Given the description of an element on the screen output the (x, y) to click on. 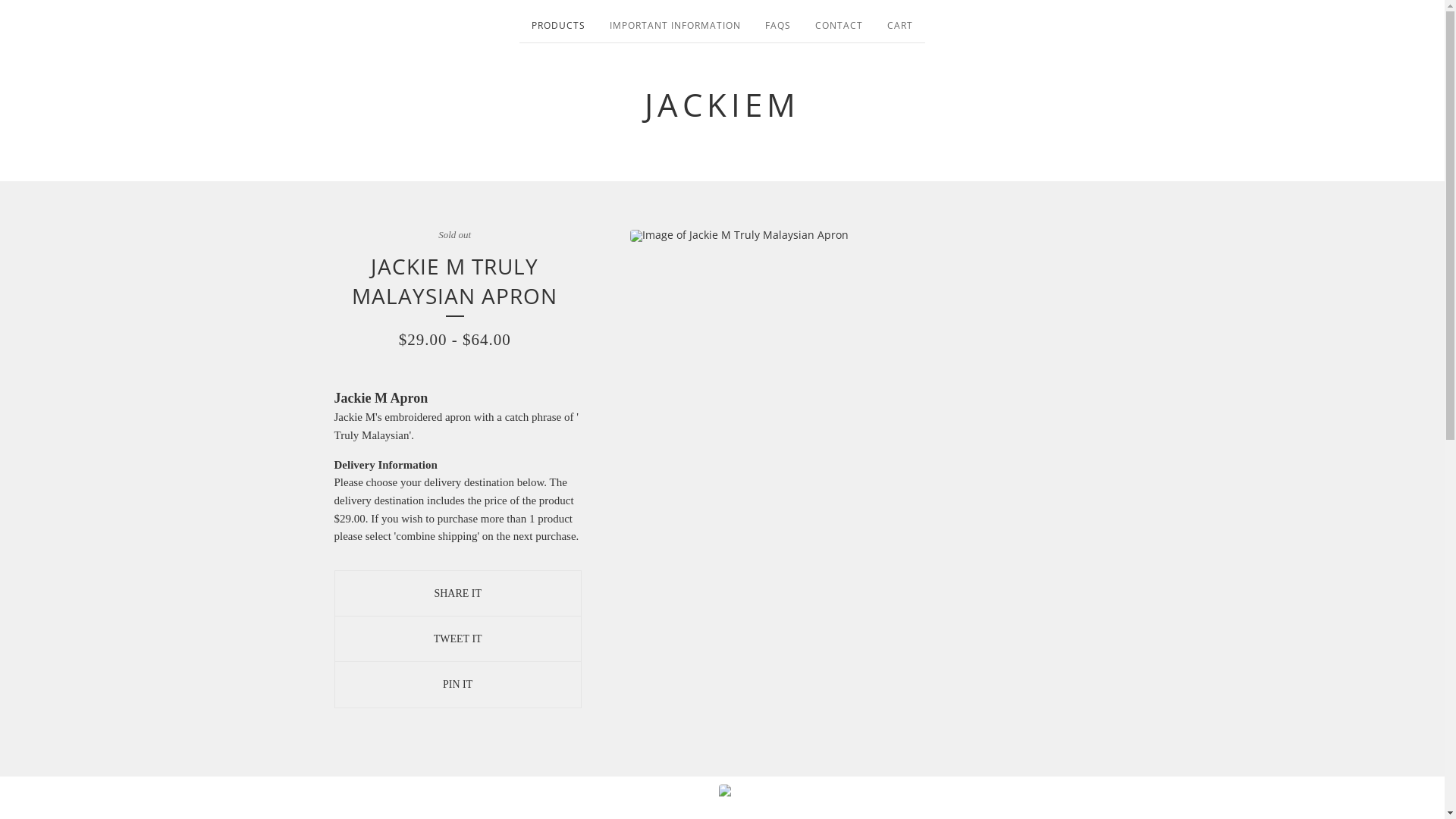
FAQS Element type: text (778, 29)
PRODUCTS Element type: text (558, 29)
JACKIEM Element type: text (721, 104)
CART Element type: text (900, 29)
CONTACT Element type: text (839, 29)
IMPORTANT INFORMATION Element type: text (675, 29)
